Given the description of an element on the screen output the (x, y) to click on. 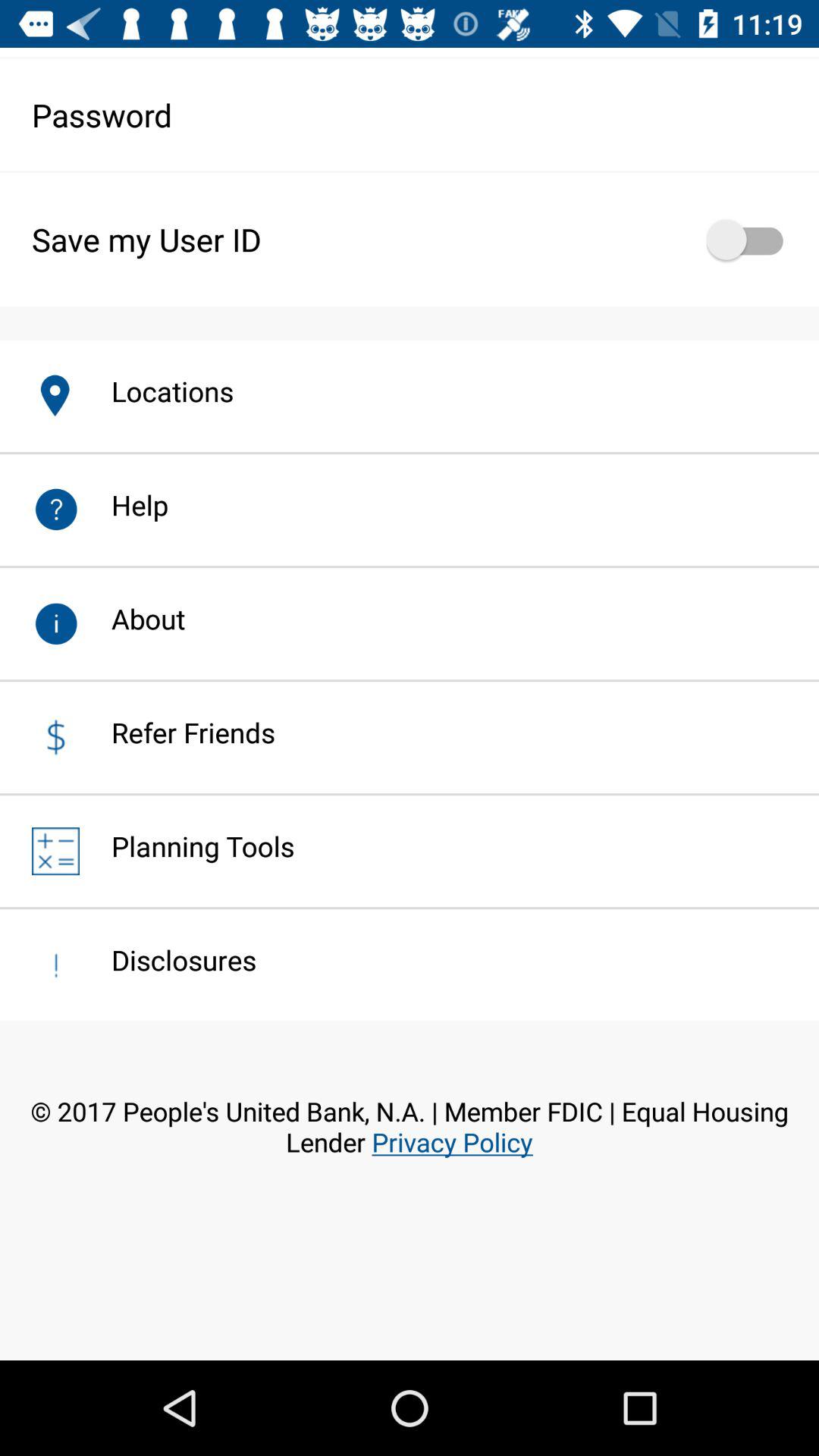
click about item (132, 618)
